Given the description of an element on the screen output the (x, y) to click on. 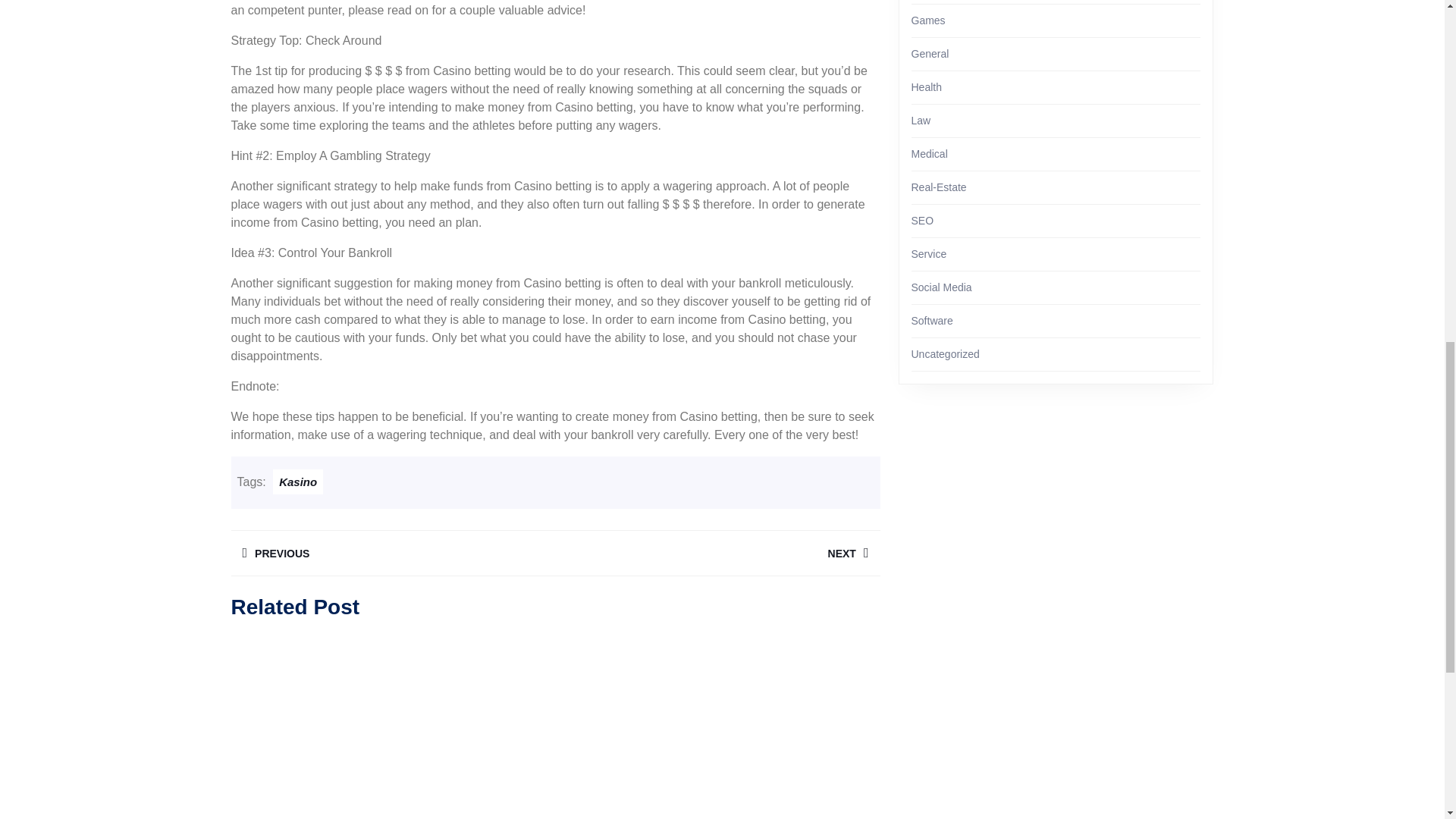
Kasino (716, 552)
